Given the description of an element on the screen output the (x, y) to click on. 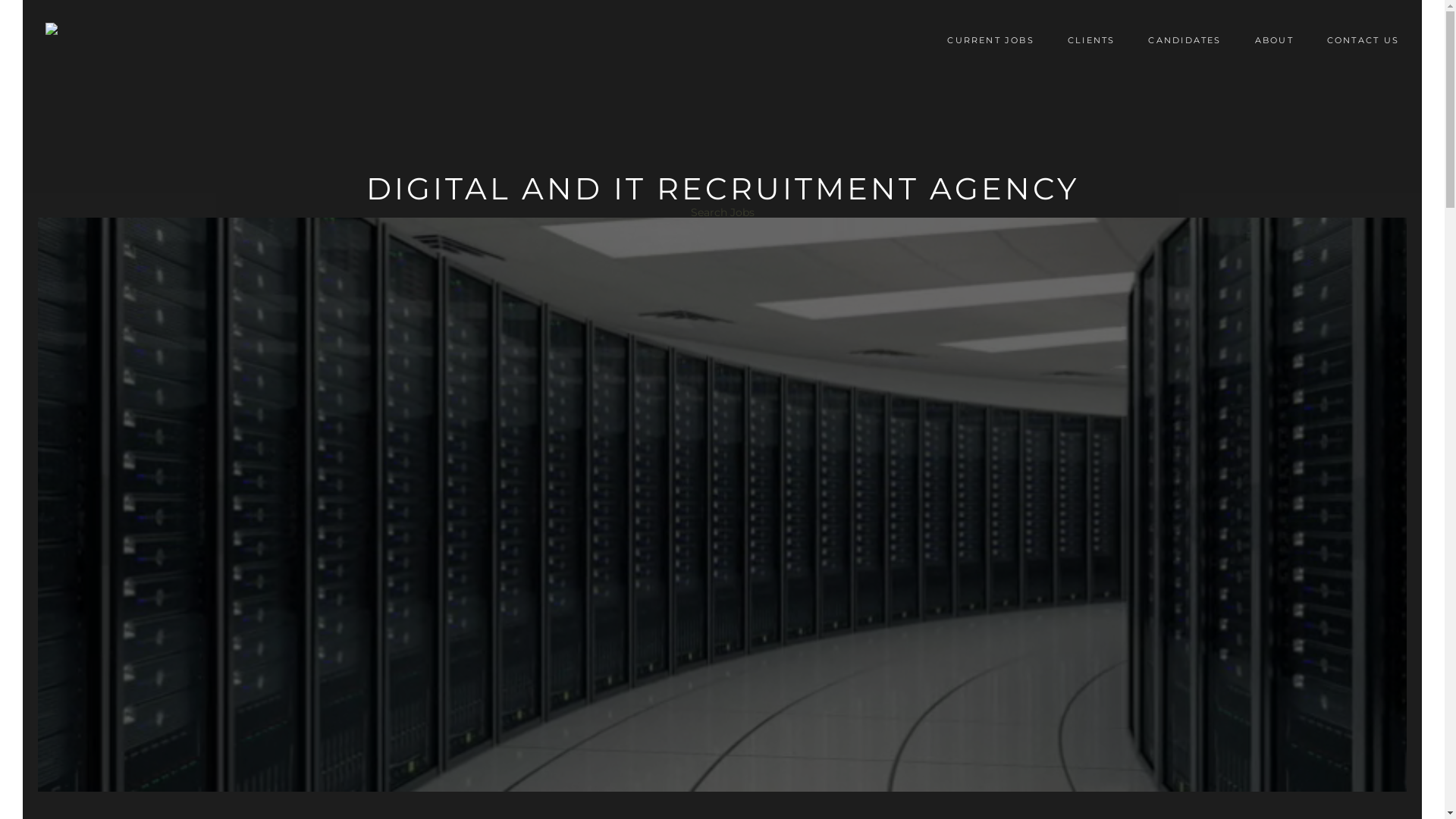
CANDIDATES Element type: text (1184, 39)
Skip to content Element type: text (916, 22)
CURRENT JOBS Element type: text (990, 39)
Search Jobs Element type: text (721, 212)
ABOUT Element type: text (1274, 39)
CLIENTS Element type: text (1091, 39)
CONTACT US Element type: text (1363, 39)
